Given the description of an element on the screen output the (x, y) to click on. 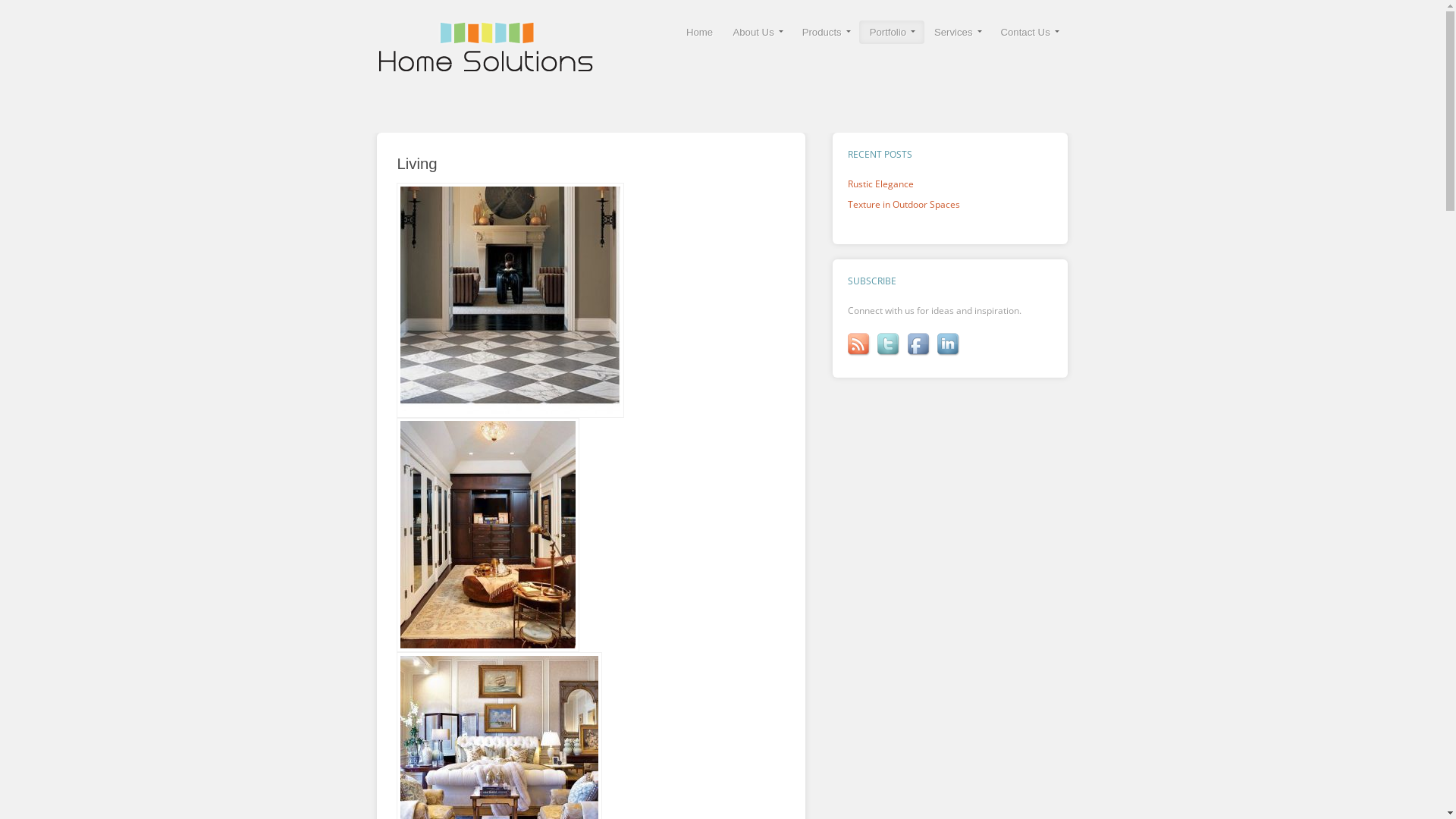
Rustic Elegance Element type: text (880, 183)
RSS Element type: hover (859, 344)
About Us Element type: text (756, 31)
LinkedIn Element type: hover (949, 344)
Design, Product Showroom, Sales and Installations Element type: hover (485, 65)
Services Element type: text (957, 31)
Home Element type: text (699, 31)
Products Element type: text (825, 31)
Texture in Outdoor Spaces Element type: text (903, 203)
Twitter Element type: hover (889, 344)
Portfolio Element type: text (891, 31)
Facebook Element type: hover (919, 344)
Contact Us Element type: text (1028, 31)
